Given the description of an element on the screen output the (x, y) to click on. 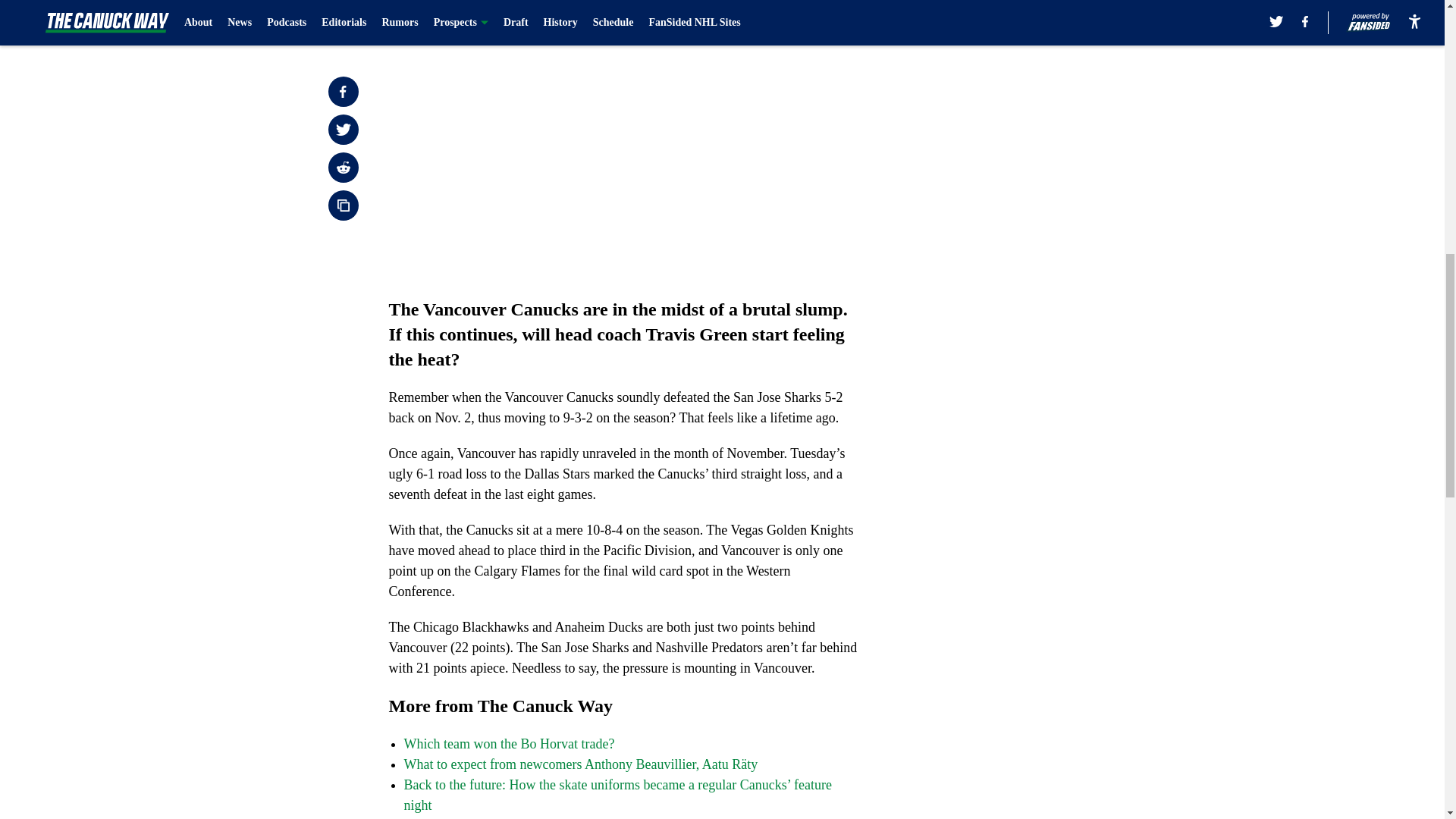
Which team won the Bo Horvat trade? (508, 743)
